Given the description of an element on the screen output the (x, y) to click on. 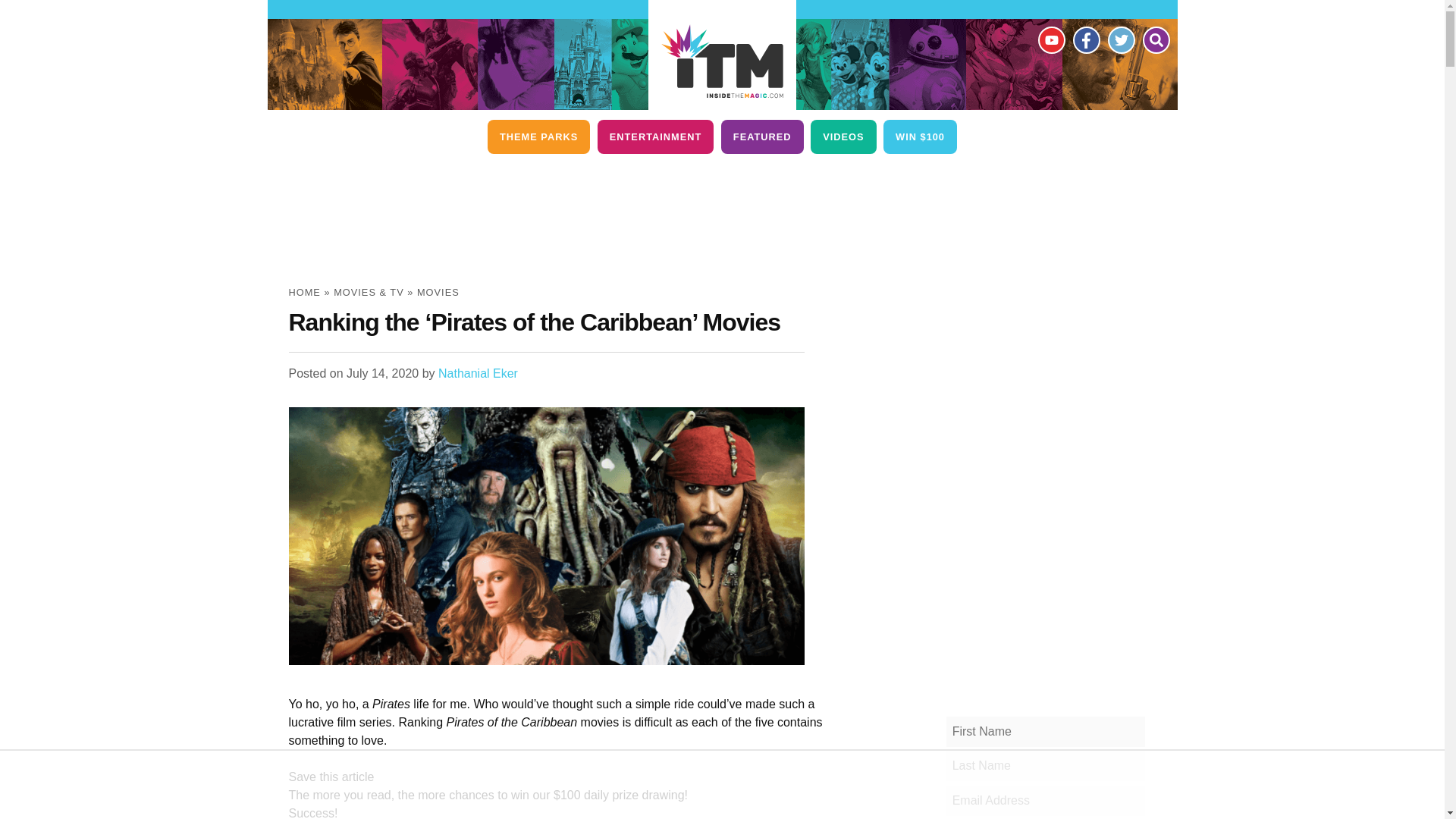
FEATURED (761, 136)
Facebook (1085, 40)
Twitter (1120, 40)
ENTERTAINMENT (655, 136)
THEME PARKS (538, 136)
Search (1155, 40)
YouTube (1050, 40)
